Given the description of an element on the screen output the (x, y) to click on. 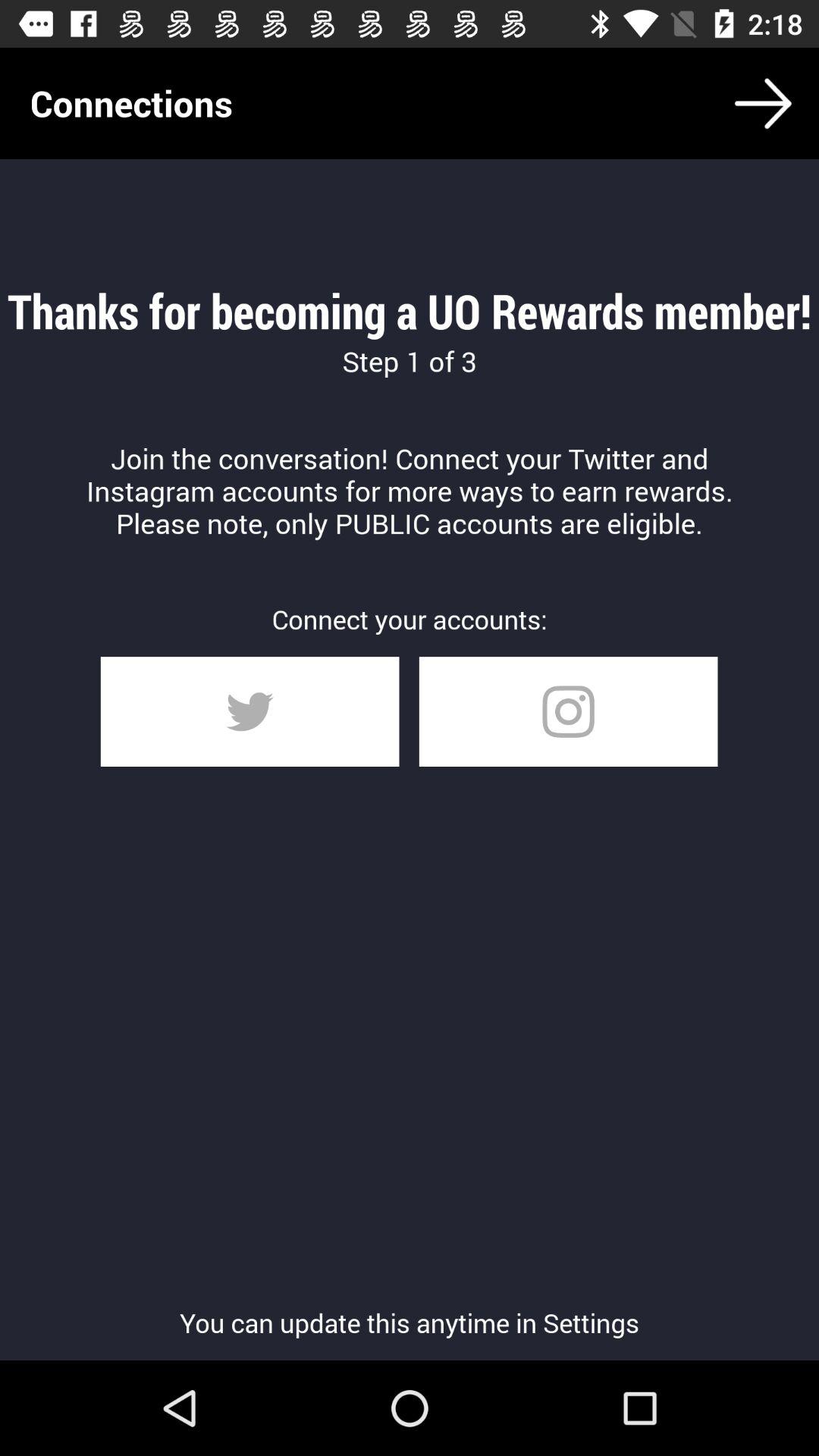
click icon above thanks for becoming (763, 103)
